Given the description of an element on the screen output the (x, y) to click on. 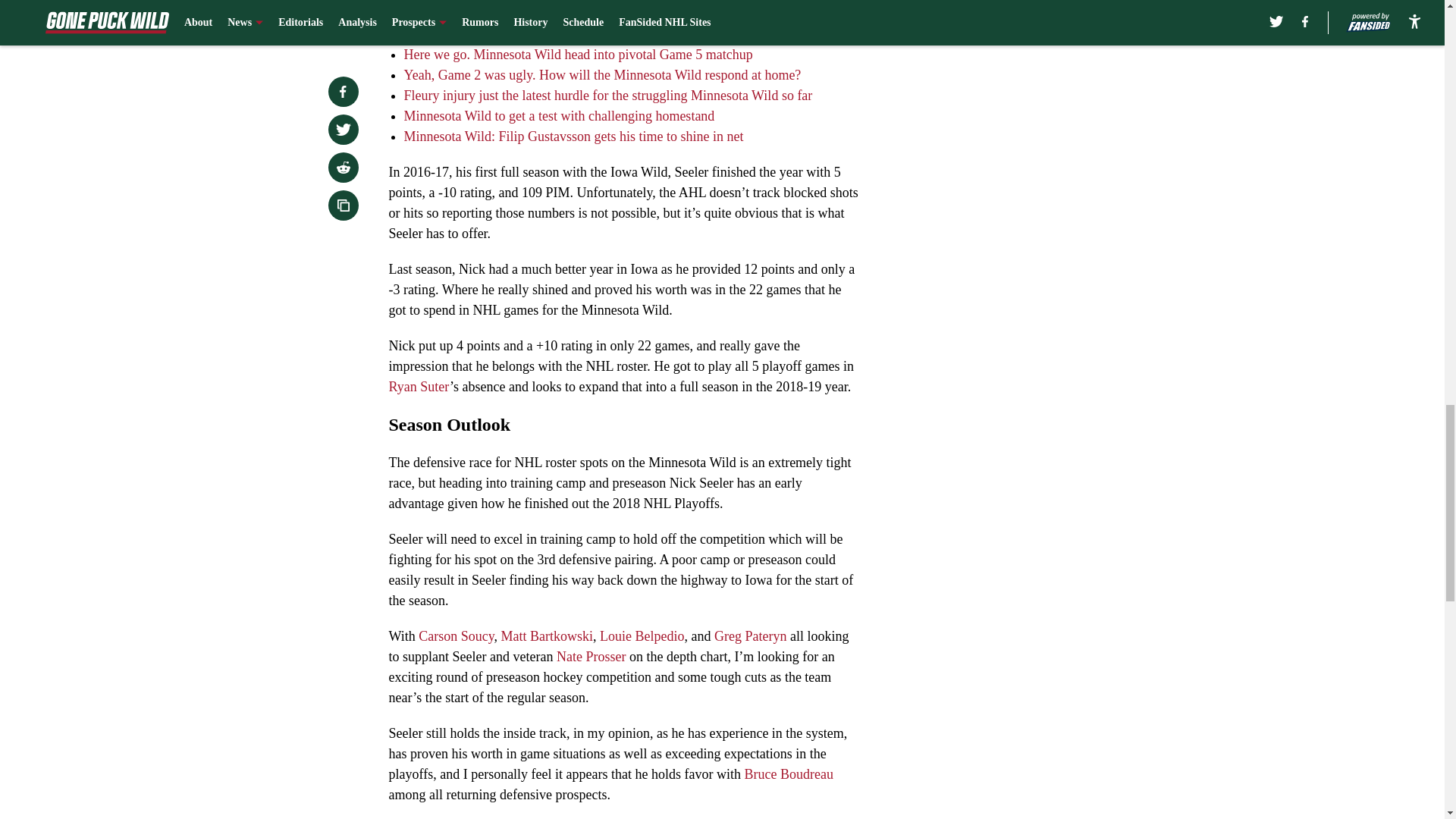
Ryan Suter (418, 386)
Louie Belpedio (641, 635)
Here we go. Minnesota Wild head into pivotal Game 5 matchup (577, 54)
Minnesota Wild to get a test with challenging homestand (558, 115)
Carson Soucy (456, 635)
Greg Pateryn (750, 635)
Nate Prosser (591, 656)
